Given the description of an element on the screen output the (x, y) to click on. 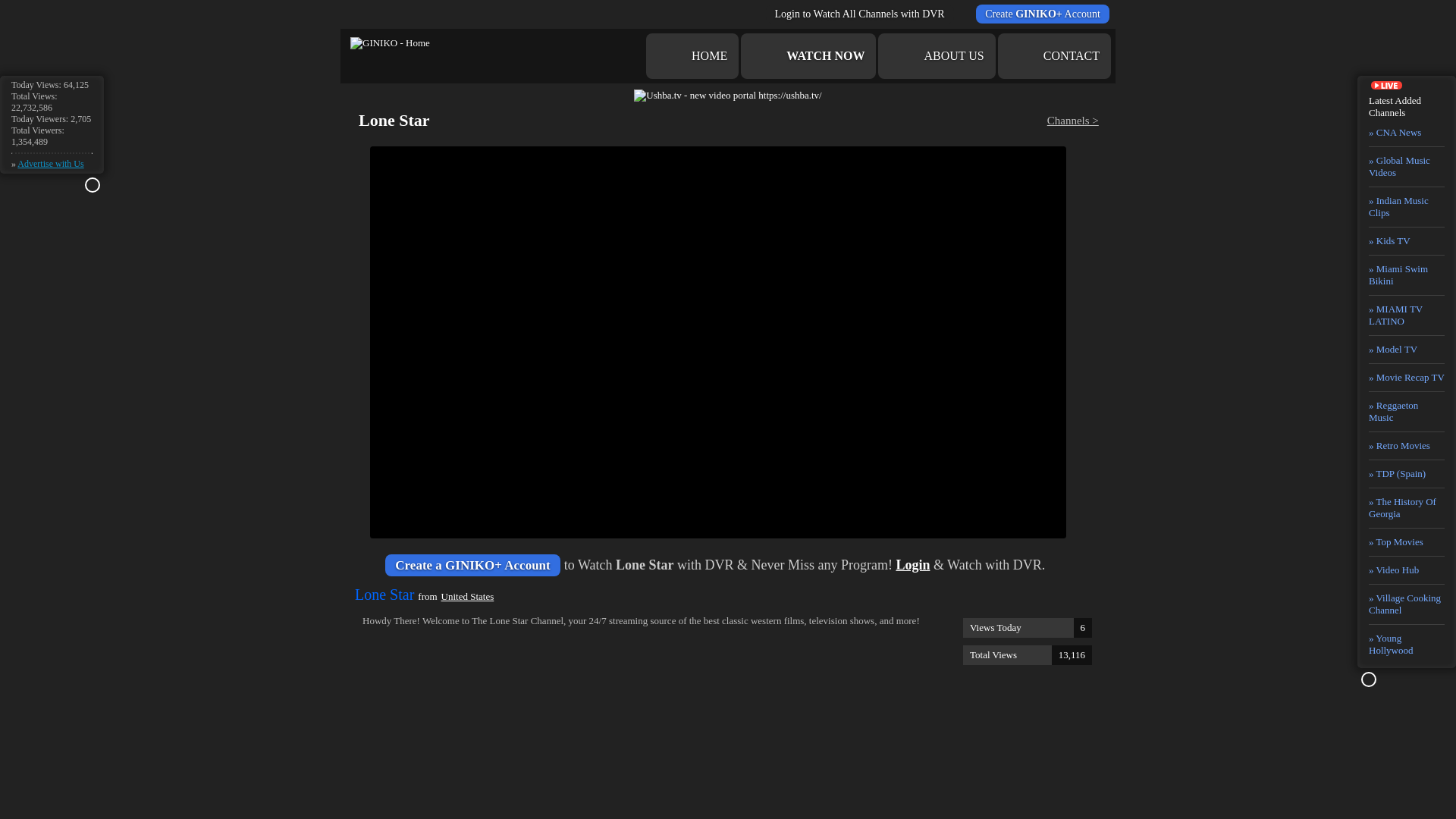
ABOUT US (935, 55)
Login (912, 564)
Advertise with Us (50, 163)
GINIKO - Home (1027, 655)
WATCH NOW (389, 42)
HOME (808, 55)
Advertise with Us (692, 55)
United States (50, 163)
Login (468, 595)
